Given the description of an element on the screen output the (x, y) to click on. 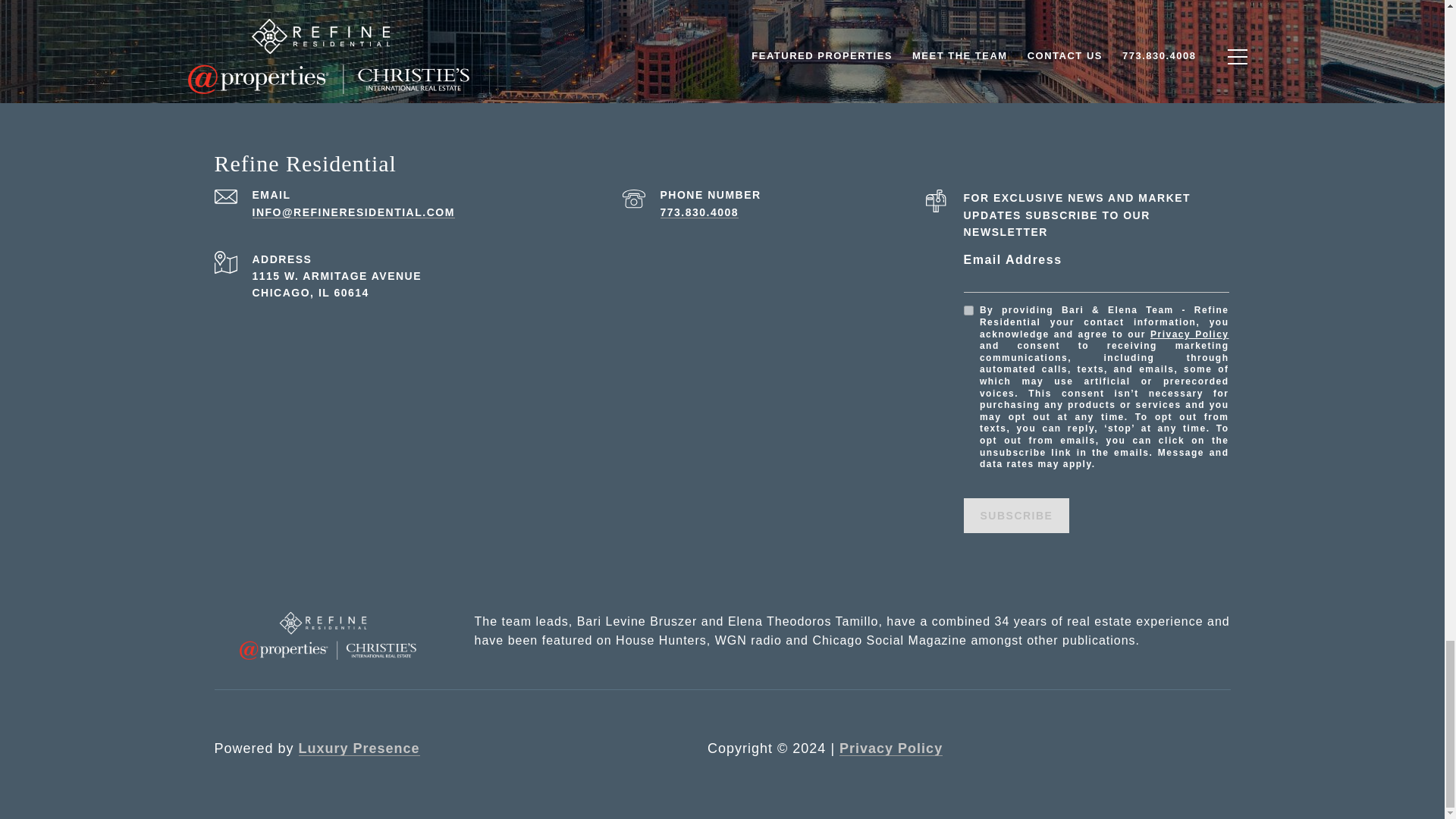
on (967, 310)
Privacy Policy (1189, 334)
773.830.4008 (698, 212)
